Given the description of an element on the screen output the (x, y) to click on. 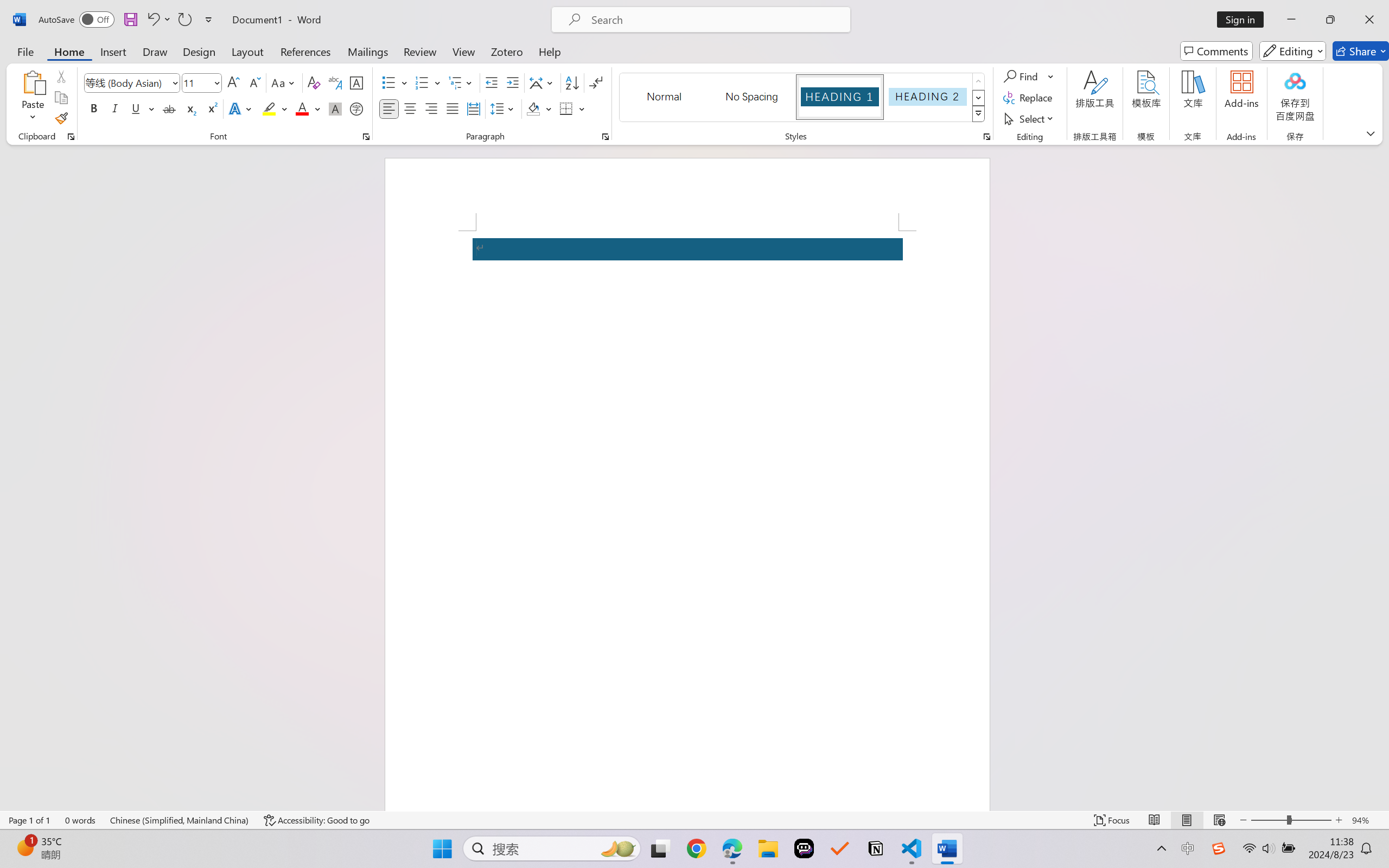
Undo Apply Quick Style Set (158, 19)
